Given the description of an element on the screen output the (x, y) to click on. 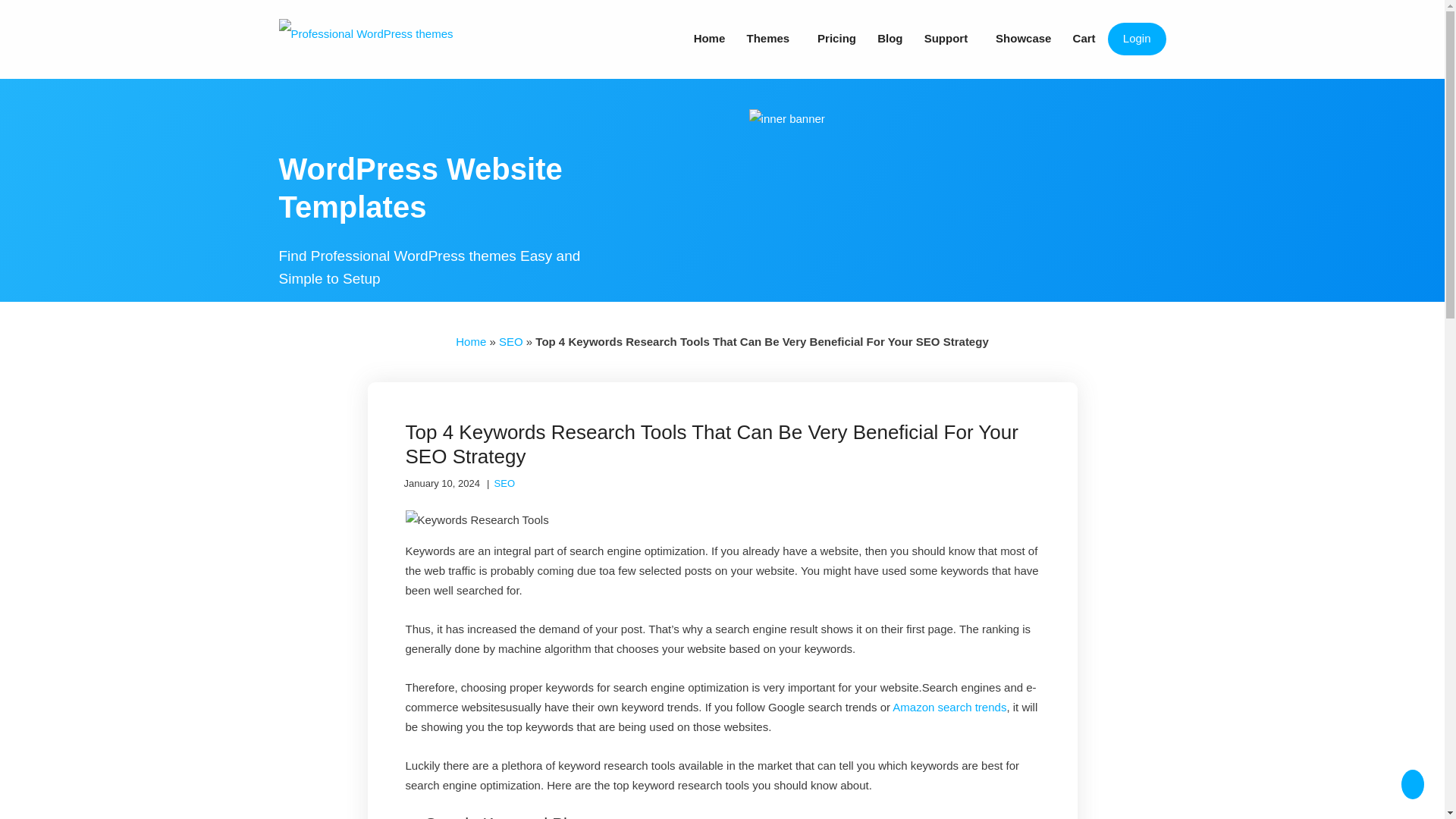
Grace Themes (365, 33)
Home (470, 341)
Login (1137, 38)
Login (1137, 38)
Amazon search trends (949, 707)
Showcase (1023, 38)
SEO (510, 341)
SEO (505, 482)
